Given the description of an element on the screen output the (x, y) to click on. 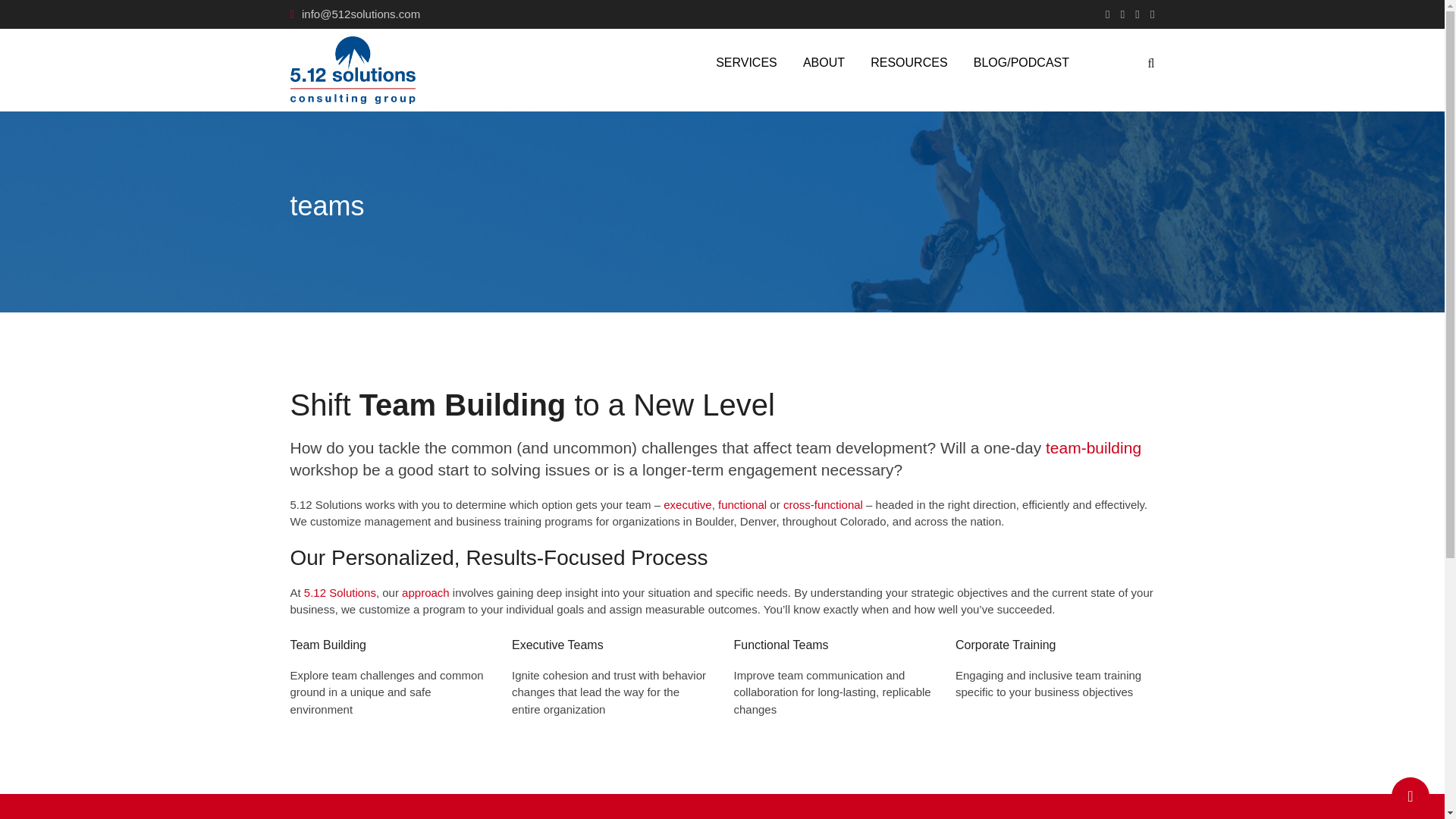
functional (742, 504)
cross-functional (823, 504)
SERVICES (746, 62)
team-building (1093, 447)
5.12 Solutions (339, 592)
ABOUT (824, 62)
executive (687, 504)
RESOURCES (908, 62)
approach (425, 592)
